Given the description of an element on the screen output the (x, y) to click on. 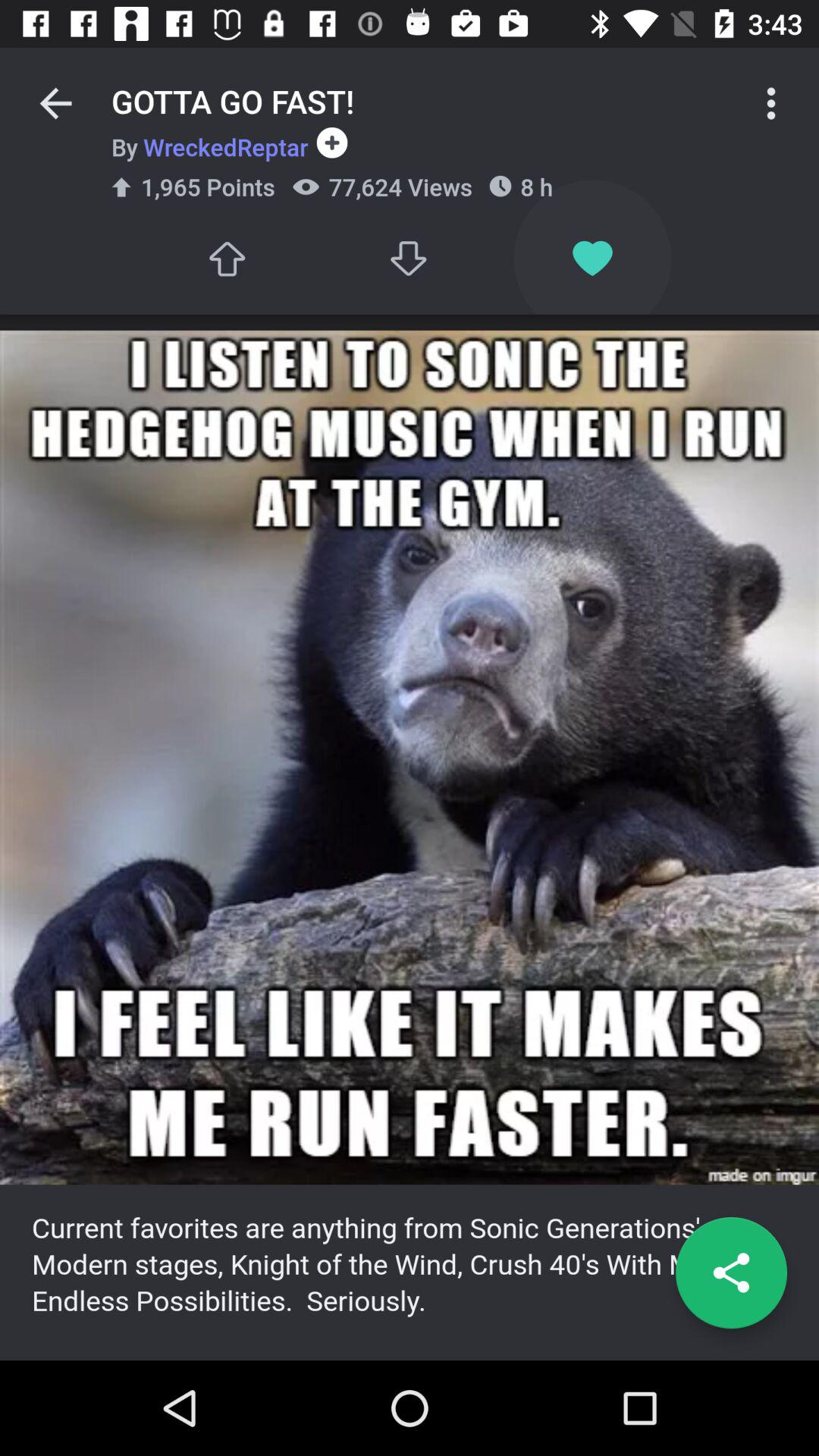
down vote (409, 258)
